Given the description of an element on the screen output the (x, y) to click on. 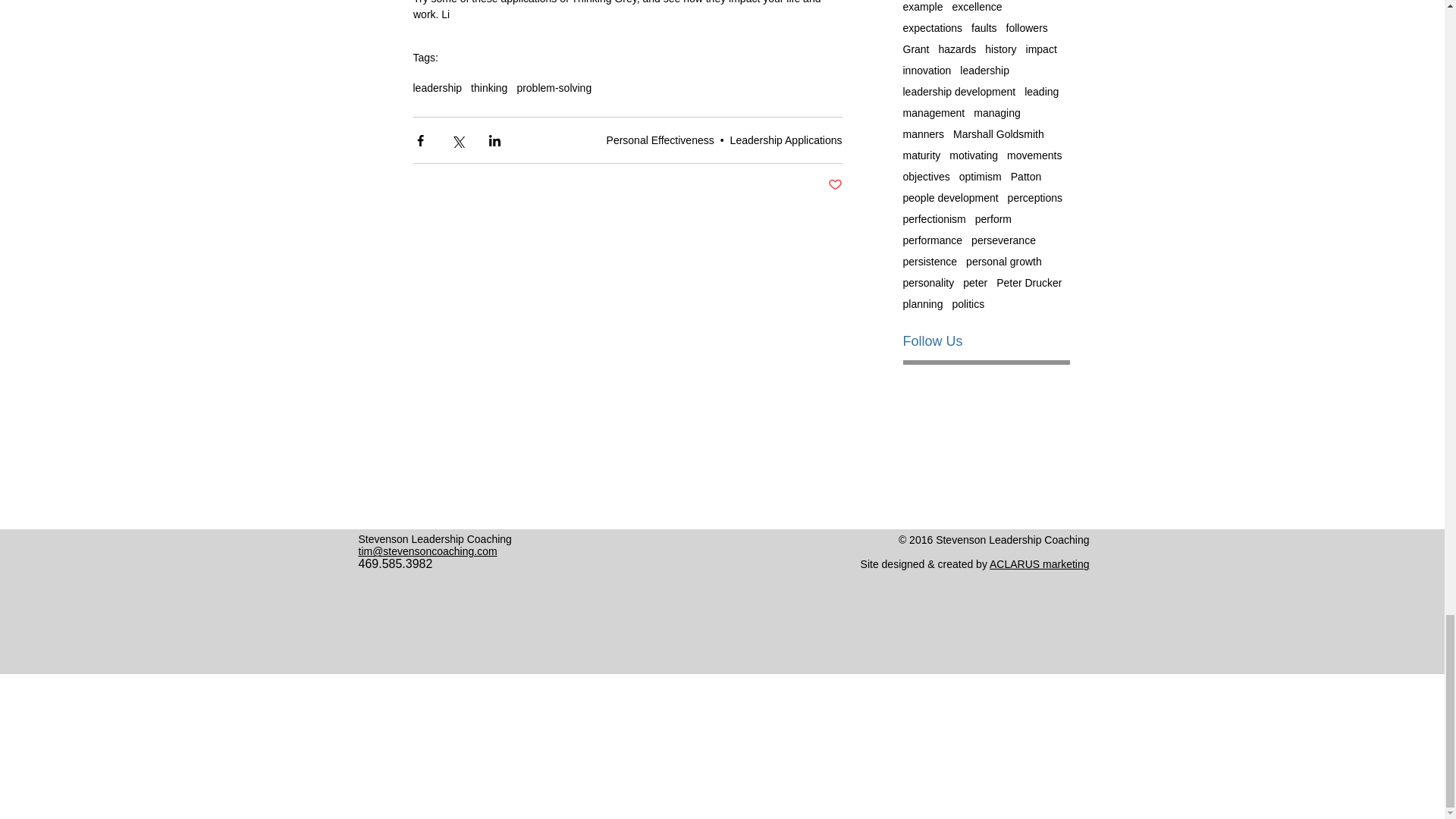
leadership (436, 87)
Personal Effectiveness (660, 140)
thinking (488, 87)
Leadership Applications (786, 140)
Post not marked as liked (835, 185)
problem-solving (553, 87)
